Given the description of an element on the screen output the (x, y) to click on. 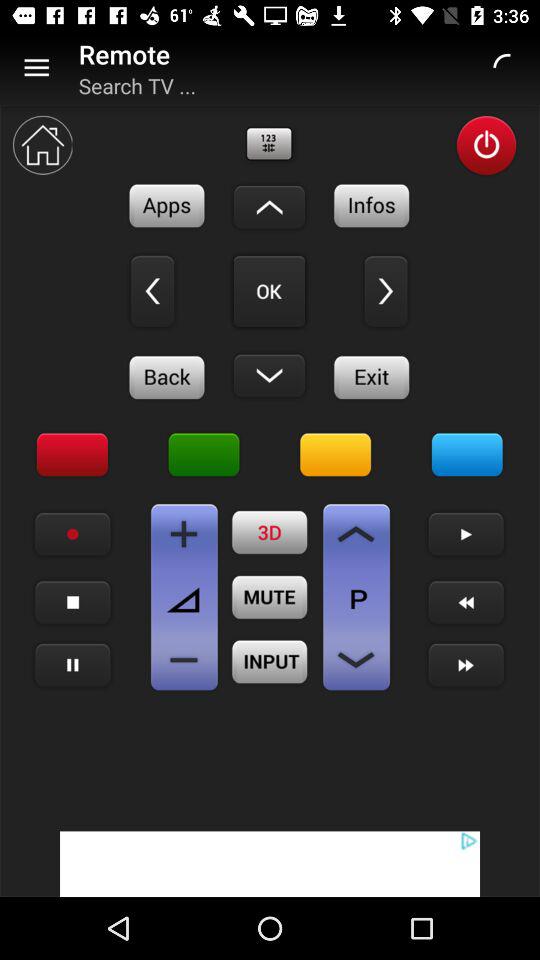
play button (466, 534)
